Given the description of an element on the screen output the (x, y) to click on. 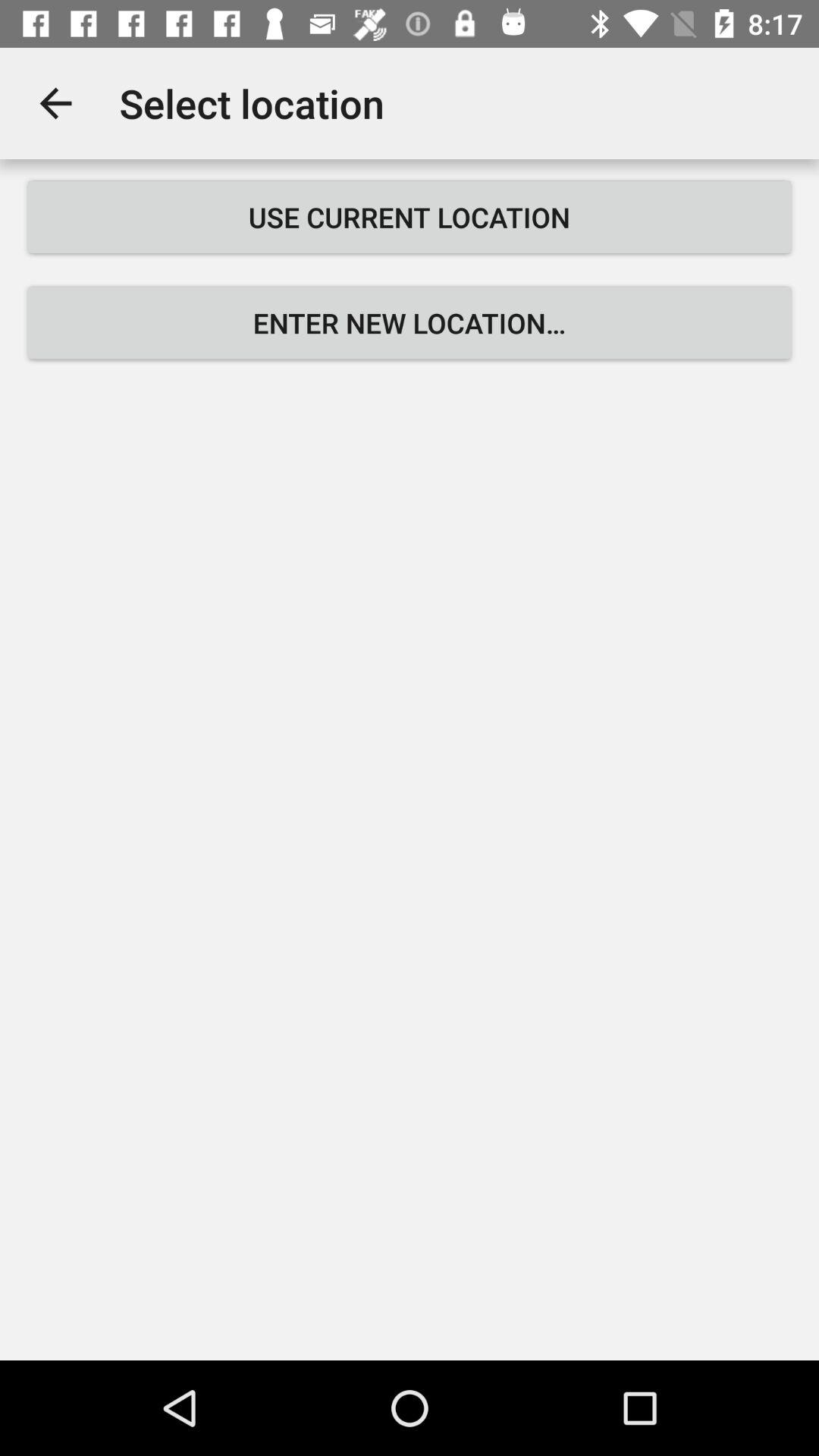
flip to use current location item (409, 217)
